Given the description of an element on the screen output the (x, y) to click on. 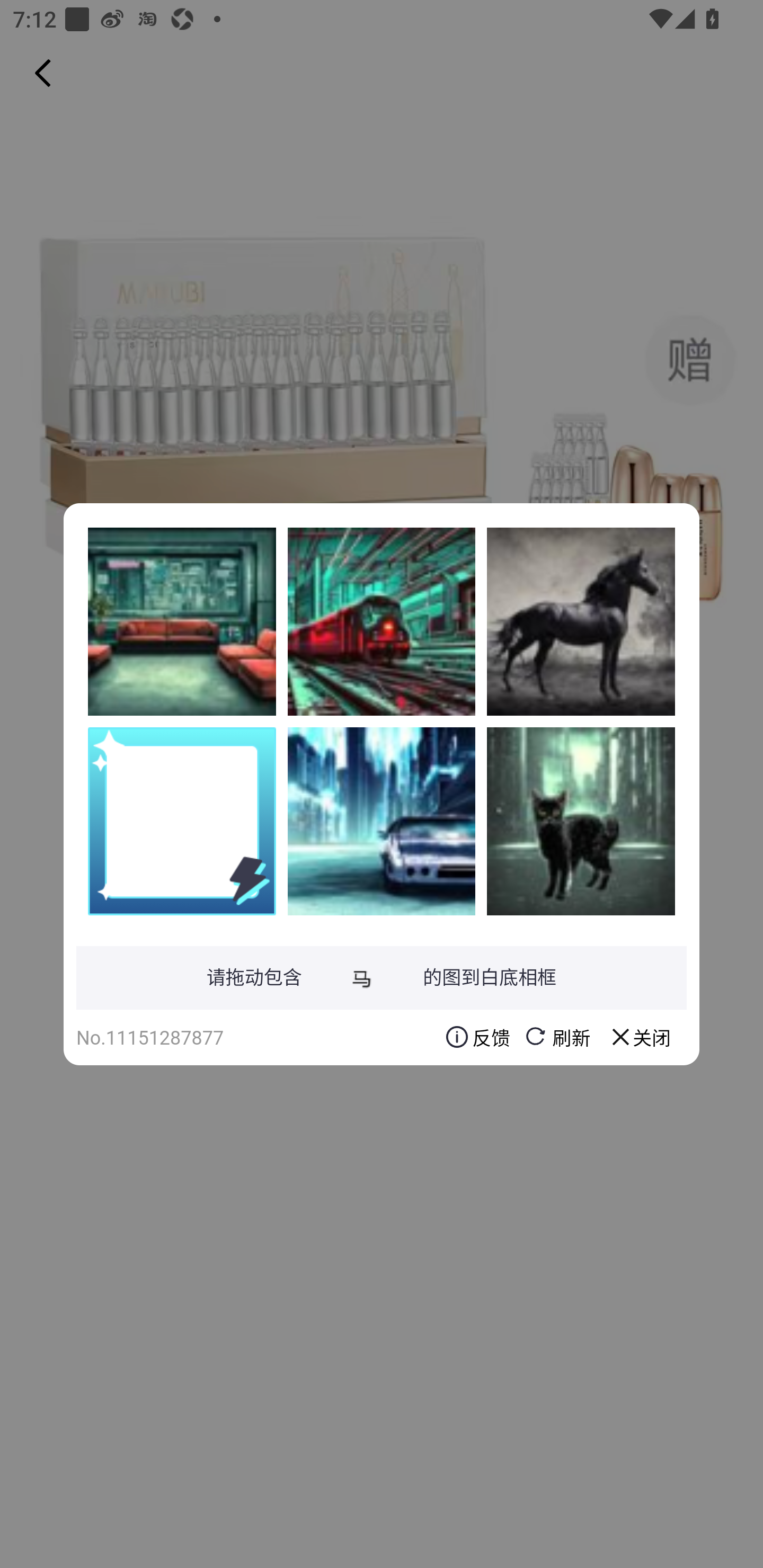
Jwk99 (381, 621)
